Given the description of an element on the screen output the (x, y) to click on. 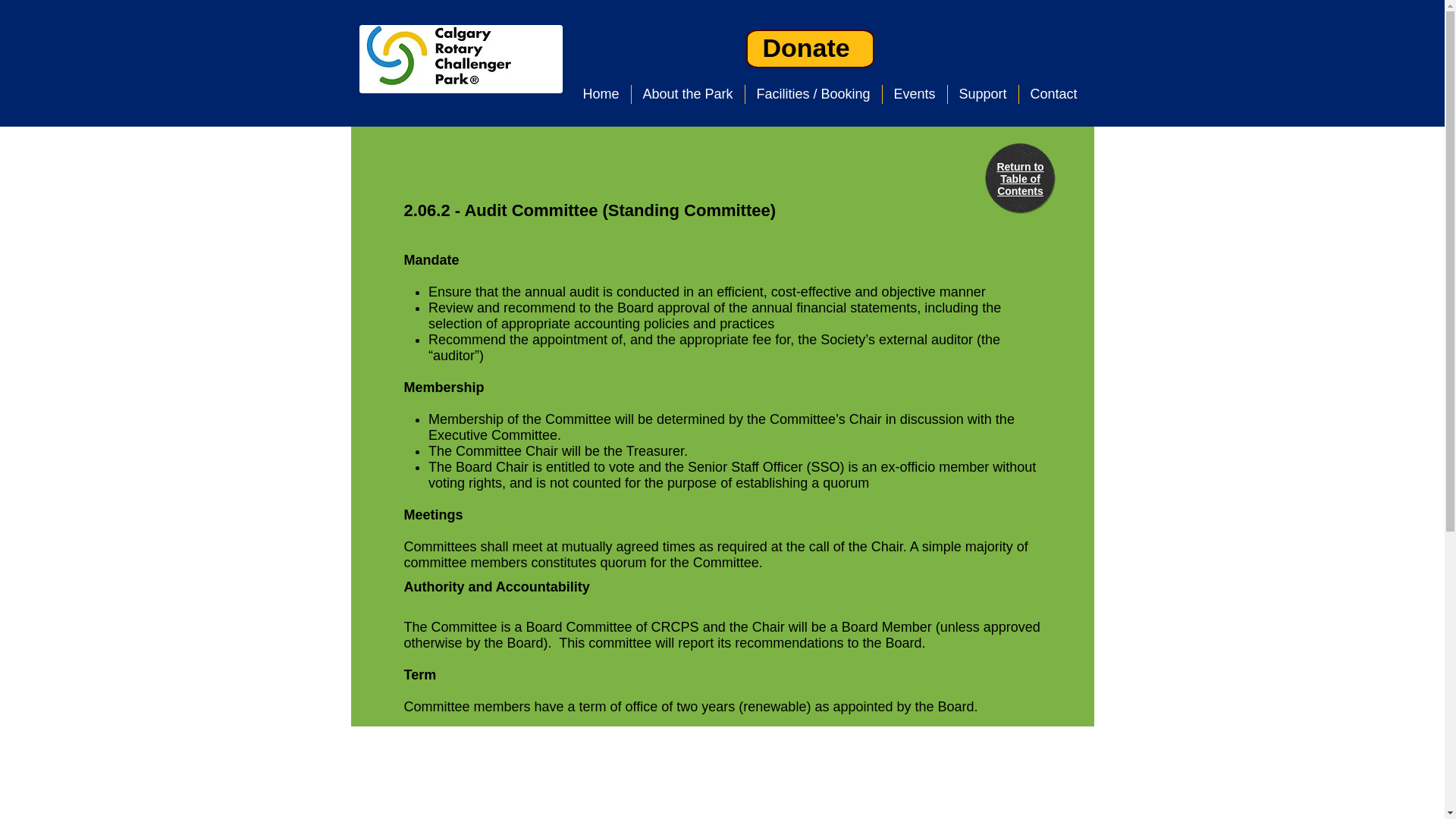
Contact (1054, 94)
Home (601, 94)
About the Park (687, 94)
Return to Table of Contents (1019, 178)
Donate (806, 47)
Support (982, 94)
Events (914, 94)
